Given the description of an element on the screen output the (x, y) to click on. 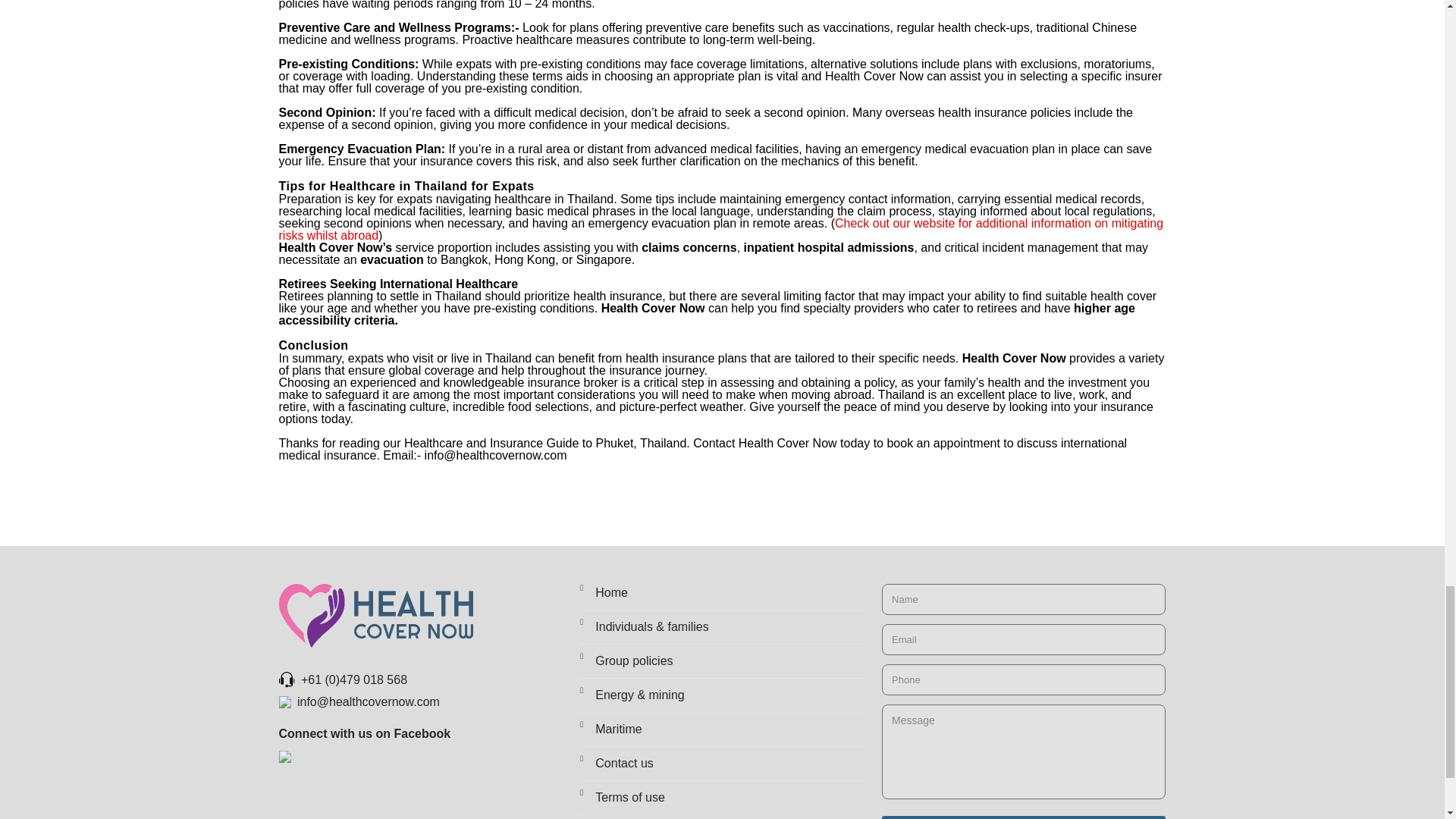
maritime (721, 729)
contact us (721, 763)
terms of use (721, 797)
privacy policy (721, 816)
home (721, 596)
Submit (1024, 817)
group policies (721, 661)
